Given the description of an element on the screen output the (x, y) to click on. 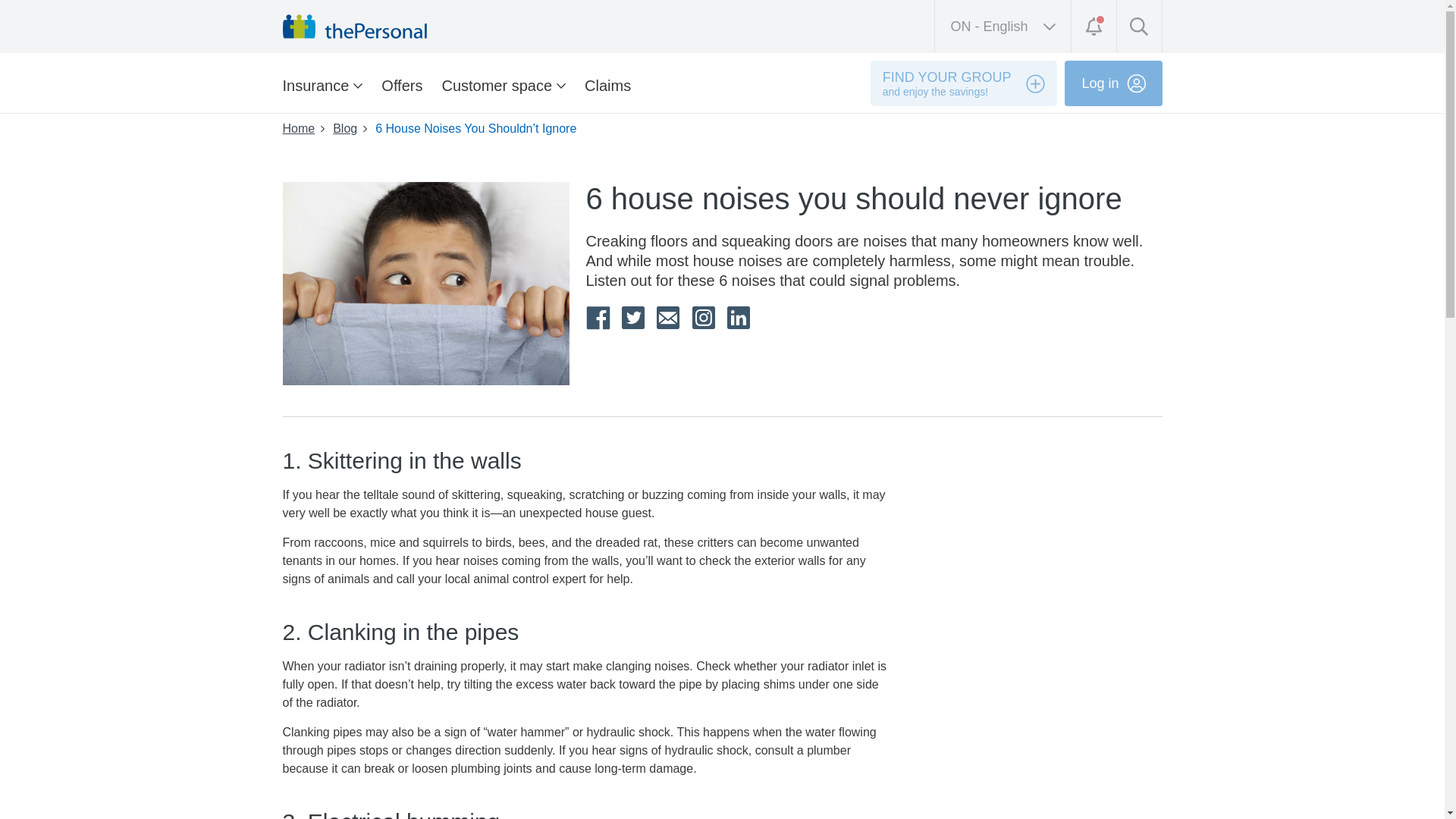
Return to Full Page (1002, 26)
Confirm (282, 150)
Insurance (913, 110)
Customer space (322, 84)
